Given the description of an element on the screen output the (x, y) to click on. 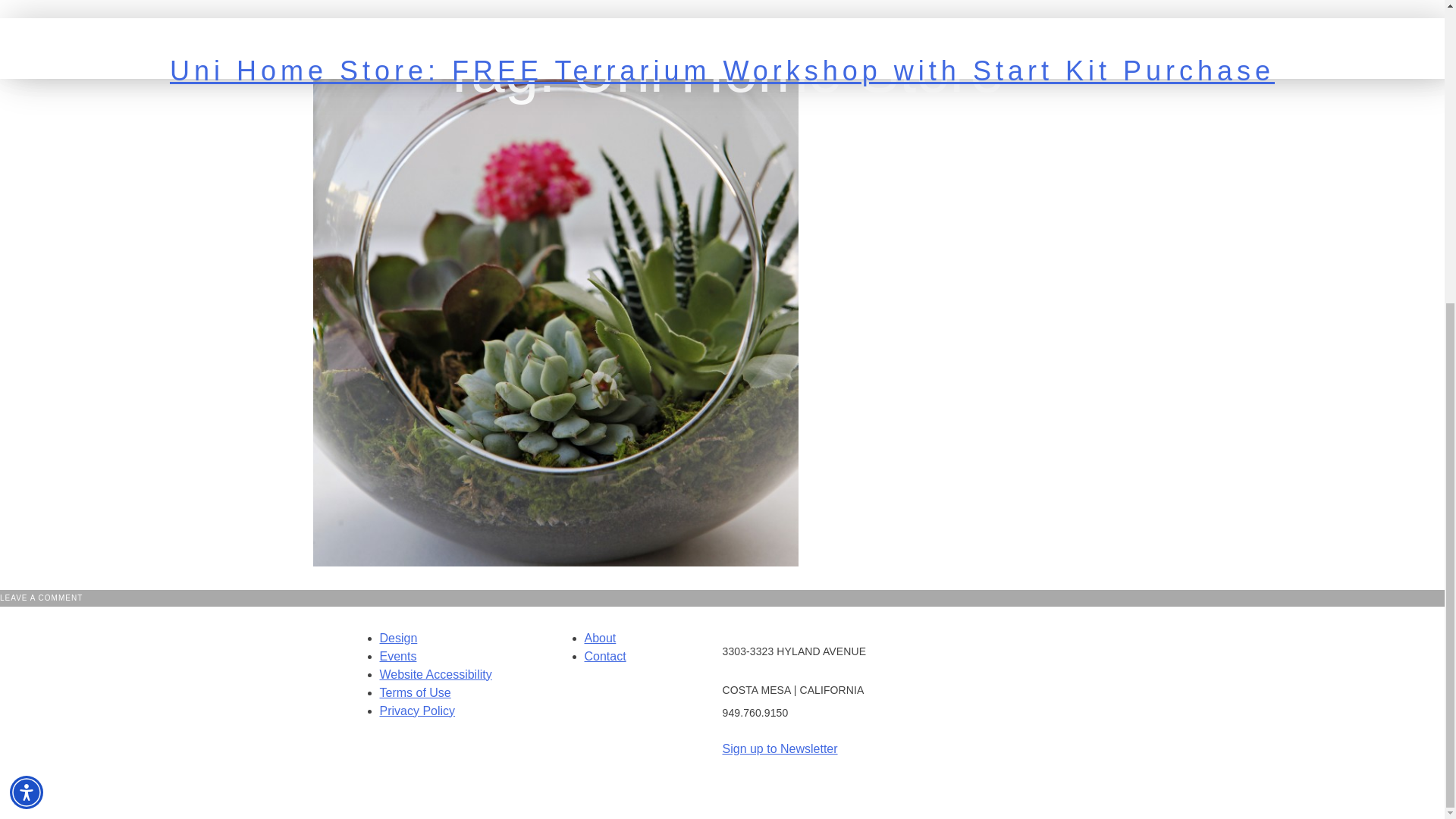
Terms of Use (413, 692)
Website Accessibility (435, 674)
About (599, 637)
Events (397, 656)
Accessibility Menu (26, 317)
Sign up to Newsletter (779, 748)
Contact (604, 656)
Privacy Policy (416, 710)
Design (397, 637)
